Given the description of an element on the screen output the (x, y) to click on. 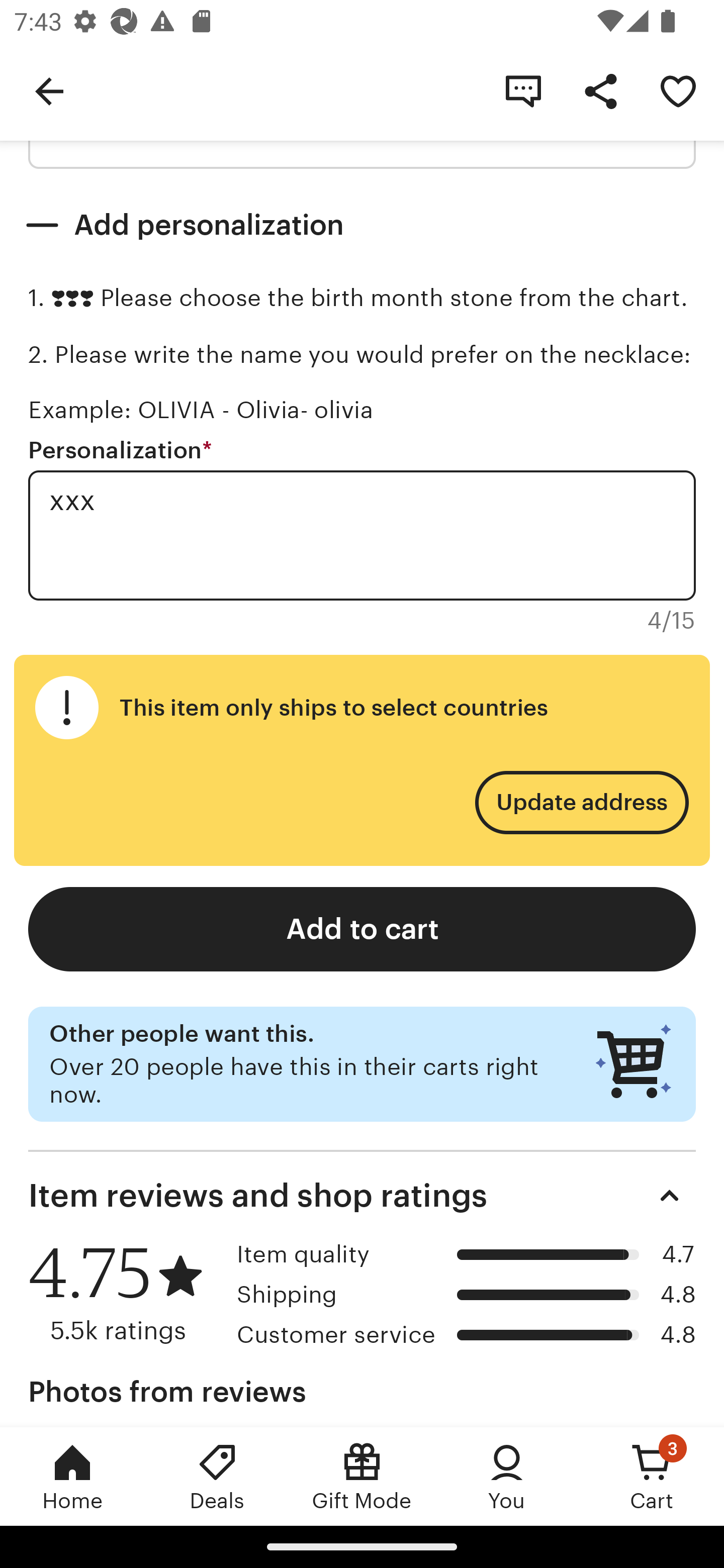
Navigate up (49, 90)
Contact shop (523, 90)
Share (600, 90)
Add personalization Add personalization Required (362, 225)
xxx
 (361, 535)
Update address (581, 802)
Add to cart (361, 929)
Item reviews and shop ratings (362, 1195)
4.75 5.5k ratings (125, 1293)
Deals (216, 1475)
Gift Mode (361, 1475)
You (506, 1475)
Cart, 3 new notifications Cart (651, 1475)
